Given the description of an element on the screen output the (x, y) to click on. 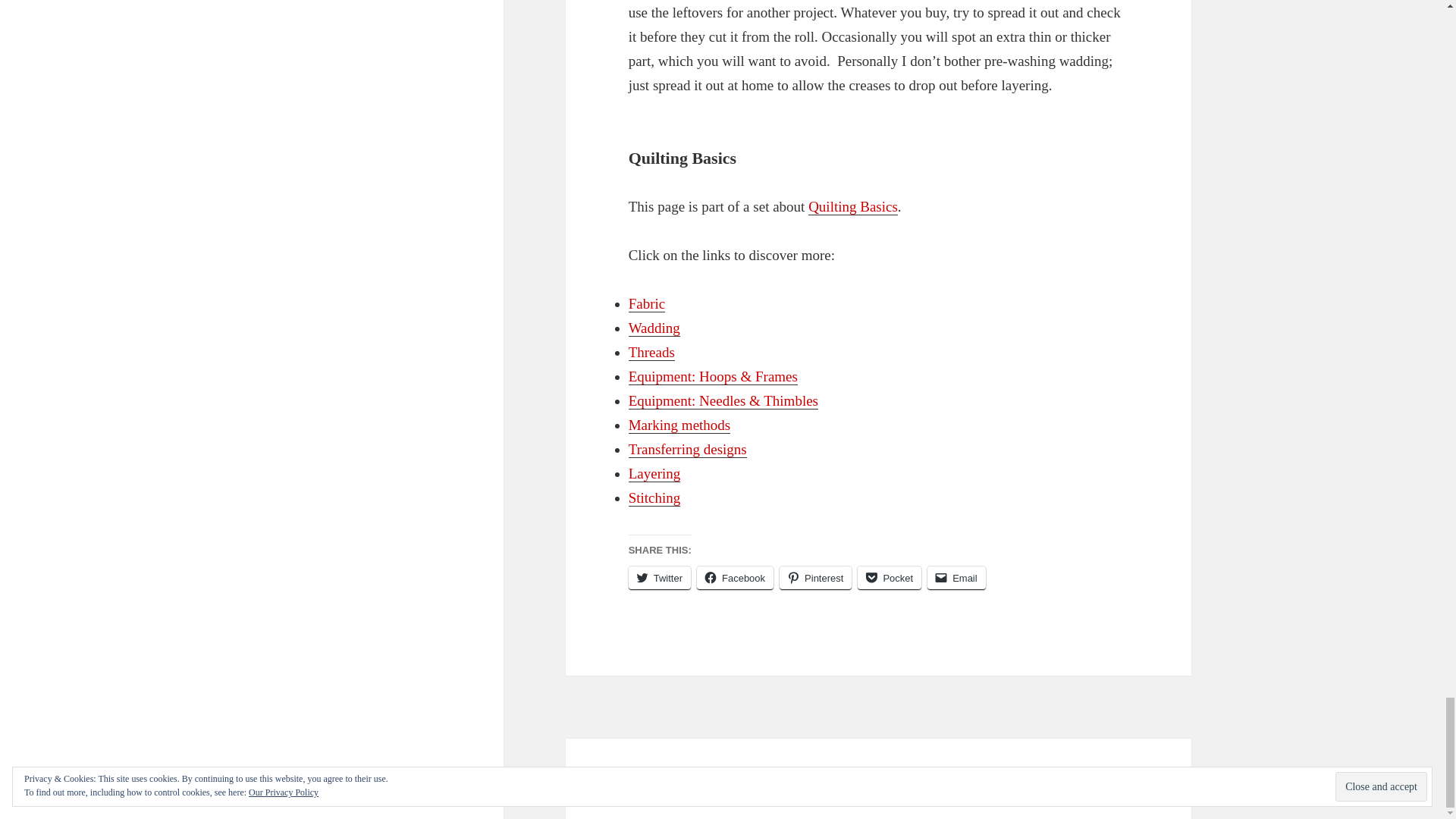
Click to share on Facebook (735, 577)
Click to share on Pinterest (814, 577)
Click to share on Pocket (889, 577)
Click to email a link to a friend (956, 577)
Click to share on Twitter (659, 577)
